Given the description of an element on the screen output the (x, y) to click on. 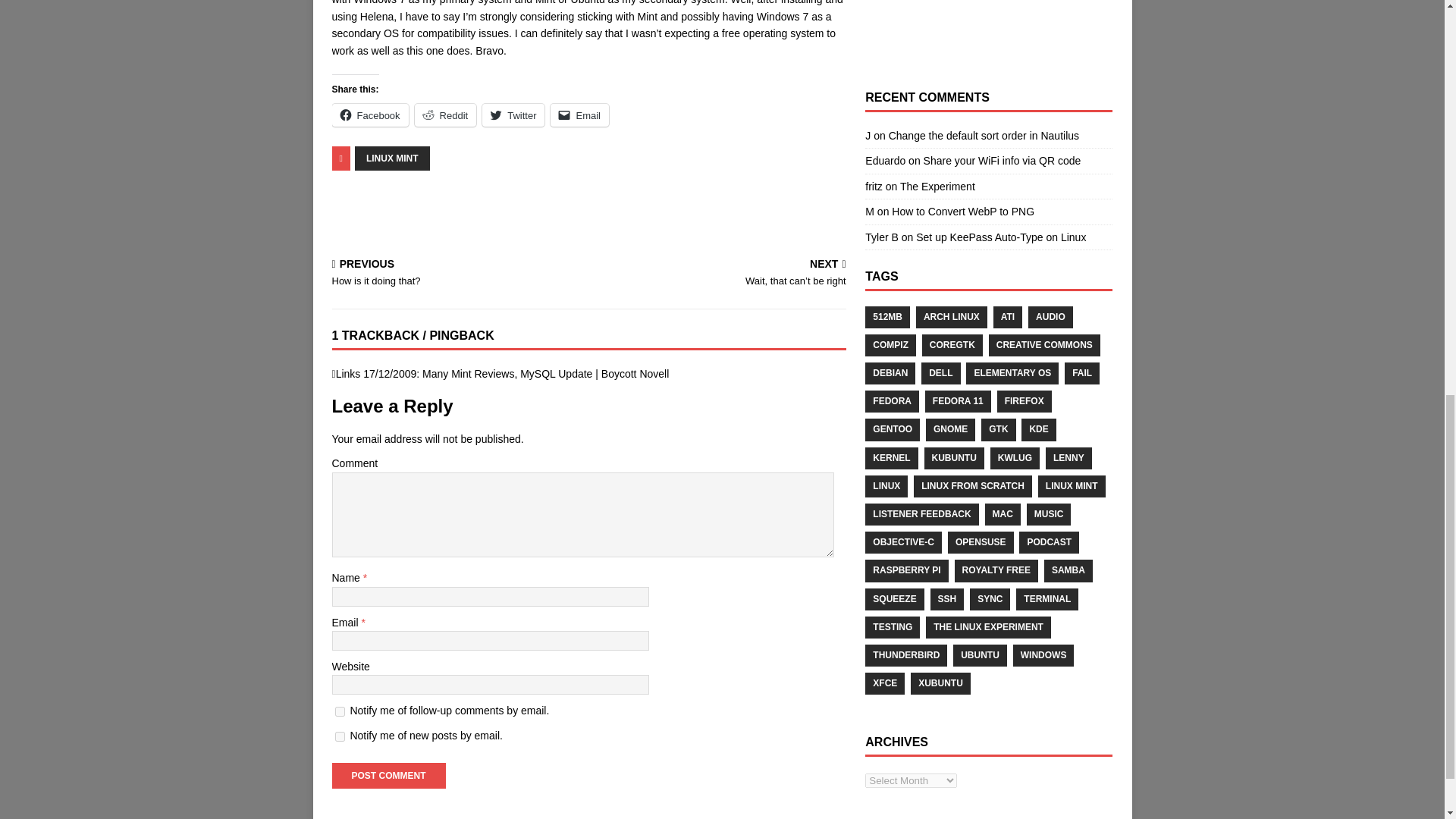
Advertisement (988, 27)
The Experiment (937, 186)
subscribe (339, 736)
512MB (887, 317)
Facebook (370, 115)
Click to share on Twitter (512, 115)
Twitter (512, 115)
subscribe (339, 711)
How to Convert WebP to PNG (962, 211)
Set up KeePass Auto-Type on Linux (1000, 236)
